Given the description of an element on the screen output the (x, y) to click on. 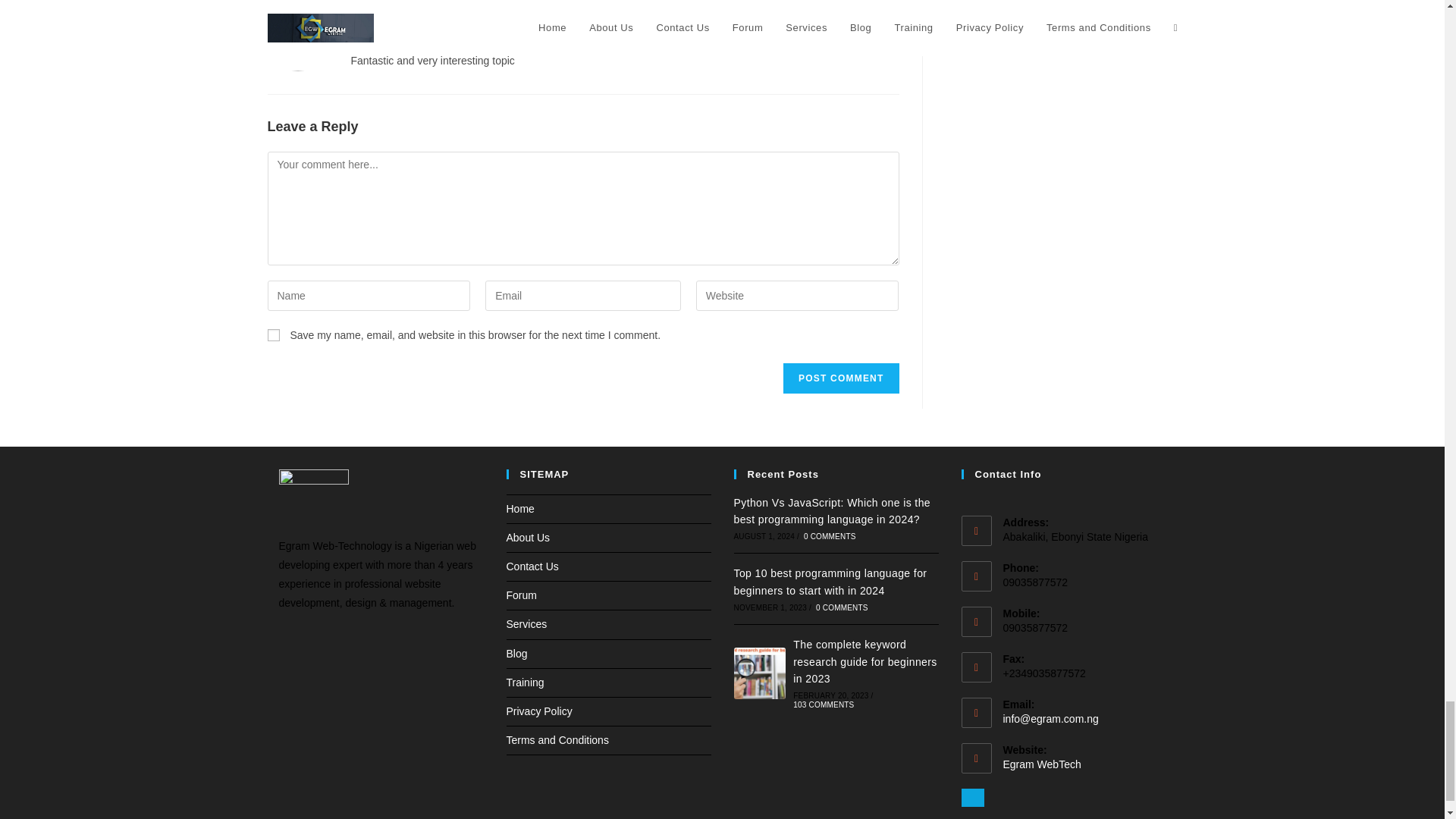
The complete keyword research guide for beginners in 2023 (759, 673)
Post Comment (840, 378)
yes (272, 335)
